Given the description of an element on the screen output the (x, y) to click on. 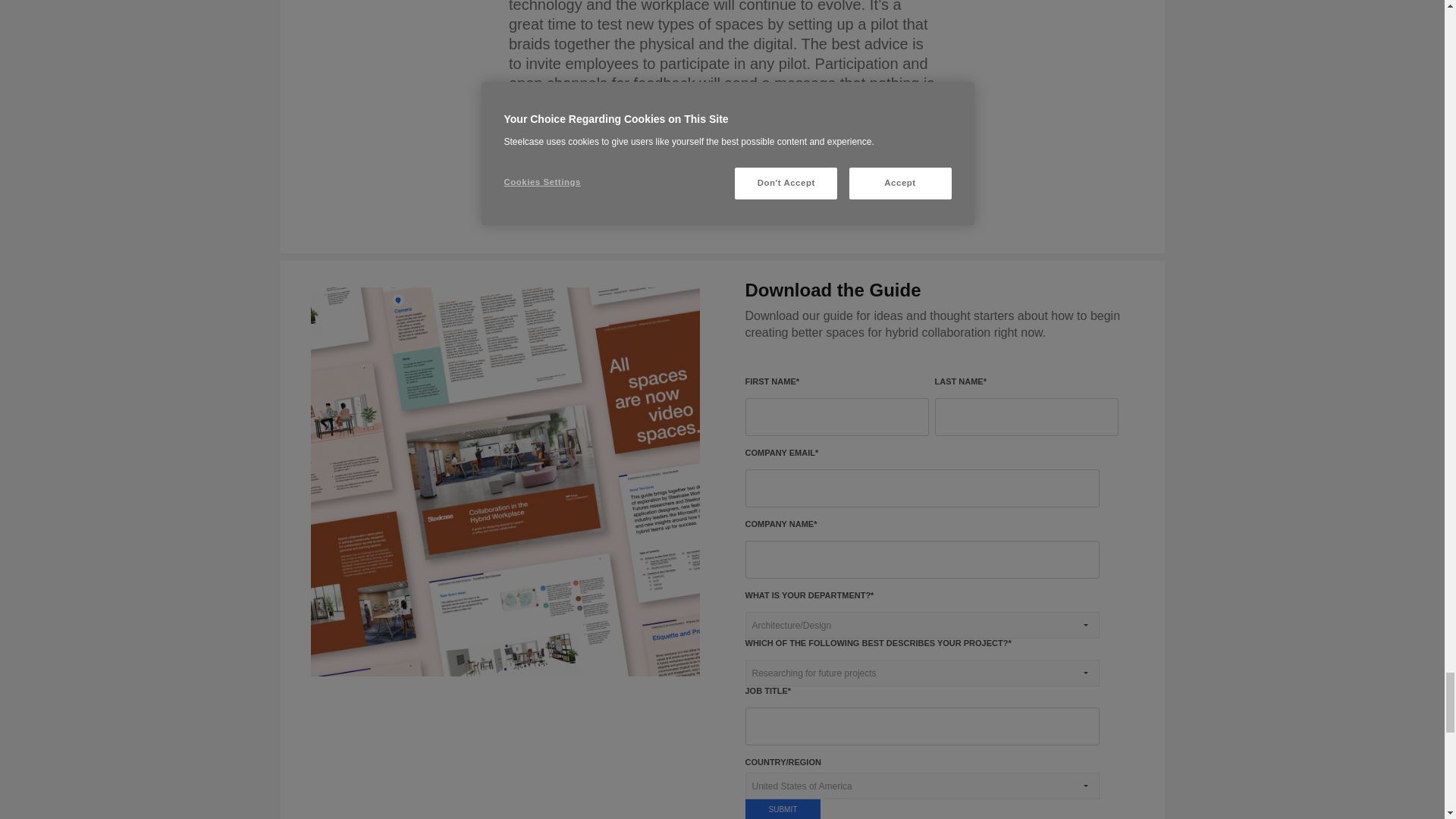
Submit (782, 809)
